Given the description of an element on the screen output the (x, y) to click on. 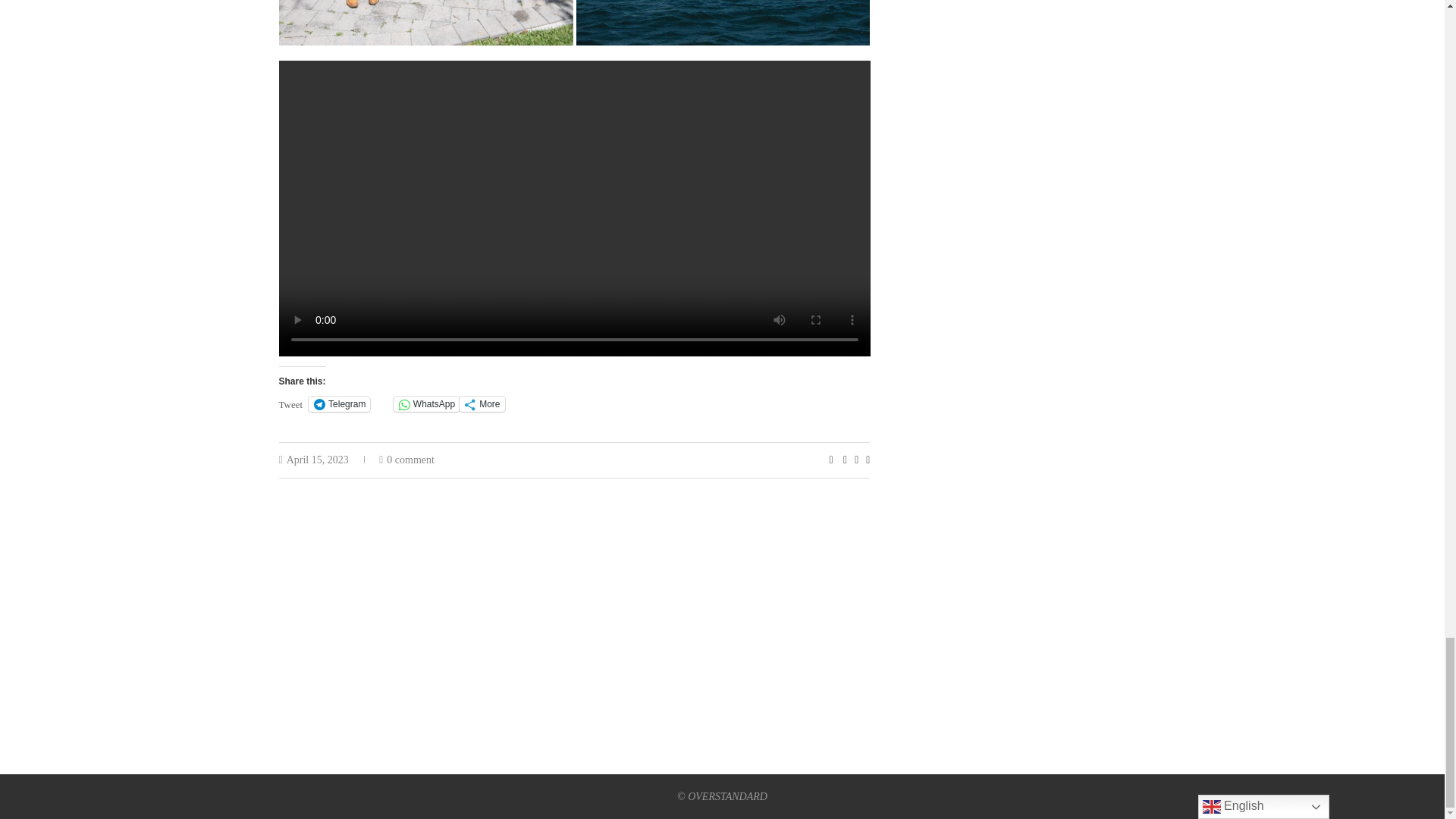
Click to share on WhatsApp (426, 403)
Click to share on Telegram (338, 403)
